Given the description of an element on the screen output the (x, y) to click on. 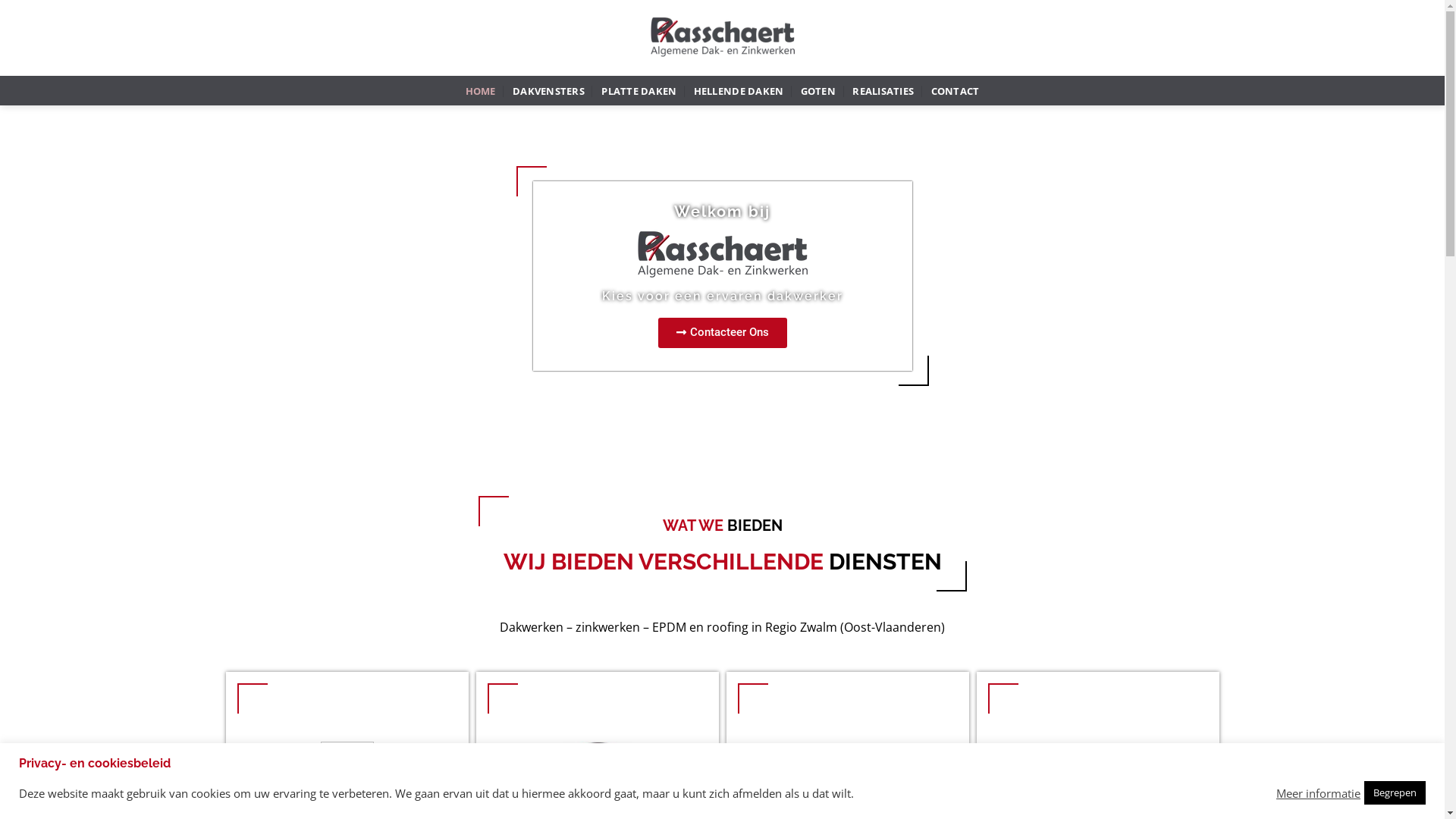
HELLENDE DAKEN Element type: text (738, 90)
GOTEN Element type: text (817, 90)
HOME Element type: text (480, 90)
Begrepen Element type: text (1394, 792)
Meer informatie Element type: text (1318, 792)
PLATTE DAKEN Element type: text (638, 90)
REALISATIES Element type: text (882, 90)
Contacteer Ons Element type: text (722, 332)
CONTACT Element type: text (955, 90)
DAKVENSTERS Element type: text (548, 90)
